Given the description of an element on the screen output the (x, y) to click on. 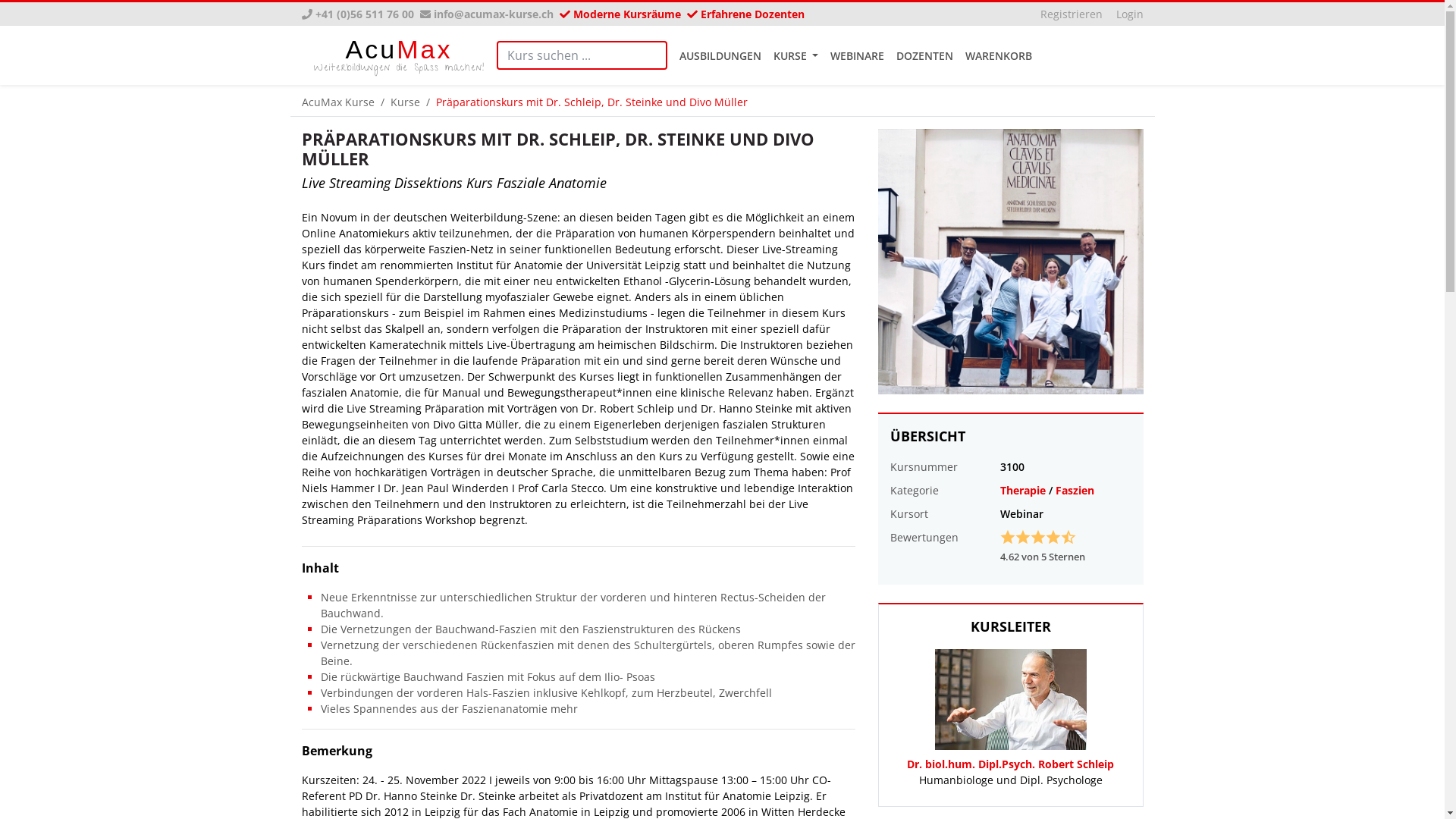
Dr. biol.hum. Dipl.Psych. Robert Schleip Element type: text (1009, 763)
AUSBILDUNGEN Element type: text (720, 54)
Login Element type: text (1129, 13)
WARENKORB Element type: text (998, 54)
KURSE Element type: text (796, 54)
Registrieren Element type: text (1071, 13)
AcuMax
Weiterbildungen die Spass machen! Element type: text (398, 54)
AcuMax Kurse Element type: text (337, 101)
Faszien Element type: text (1074, 490)
info@acumax-kurse.ch Element type: text (493, 13)
DOZENTEN Element type: text (924, 54)
Therapie Element type: text (1021, 490)
WEBINARE Element type: text (857, 54)
Kurse Element type: text (404, 101)
